Given the description of an element on the screen output the (x, y) to click on. 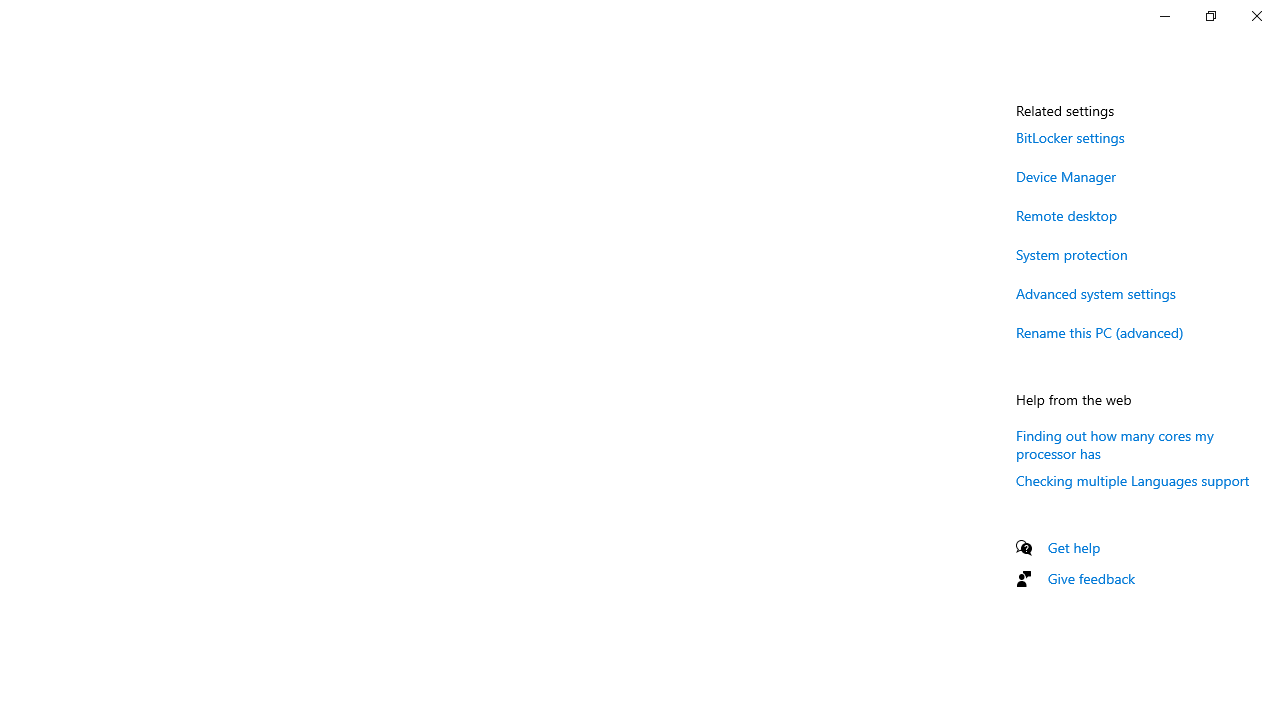
BitLocker settings (1070, 137)
Remote desktop (1066, 214)
Checking multiple Languages support (1133, 480)
System protection (1071, 254)
Device Manager (1066, 176)
Advanced system settings (1096, 293)
Finding out how many cores my processor has (1114, 443)
Rename this PC (advanced) (1100, 332)
